Given the description of an element on the screen output the (x, y) to click on. 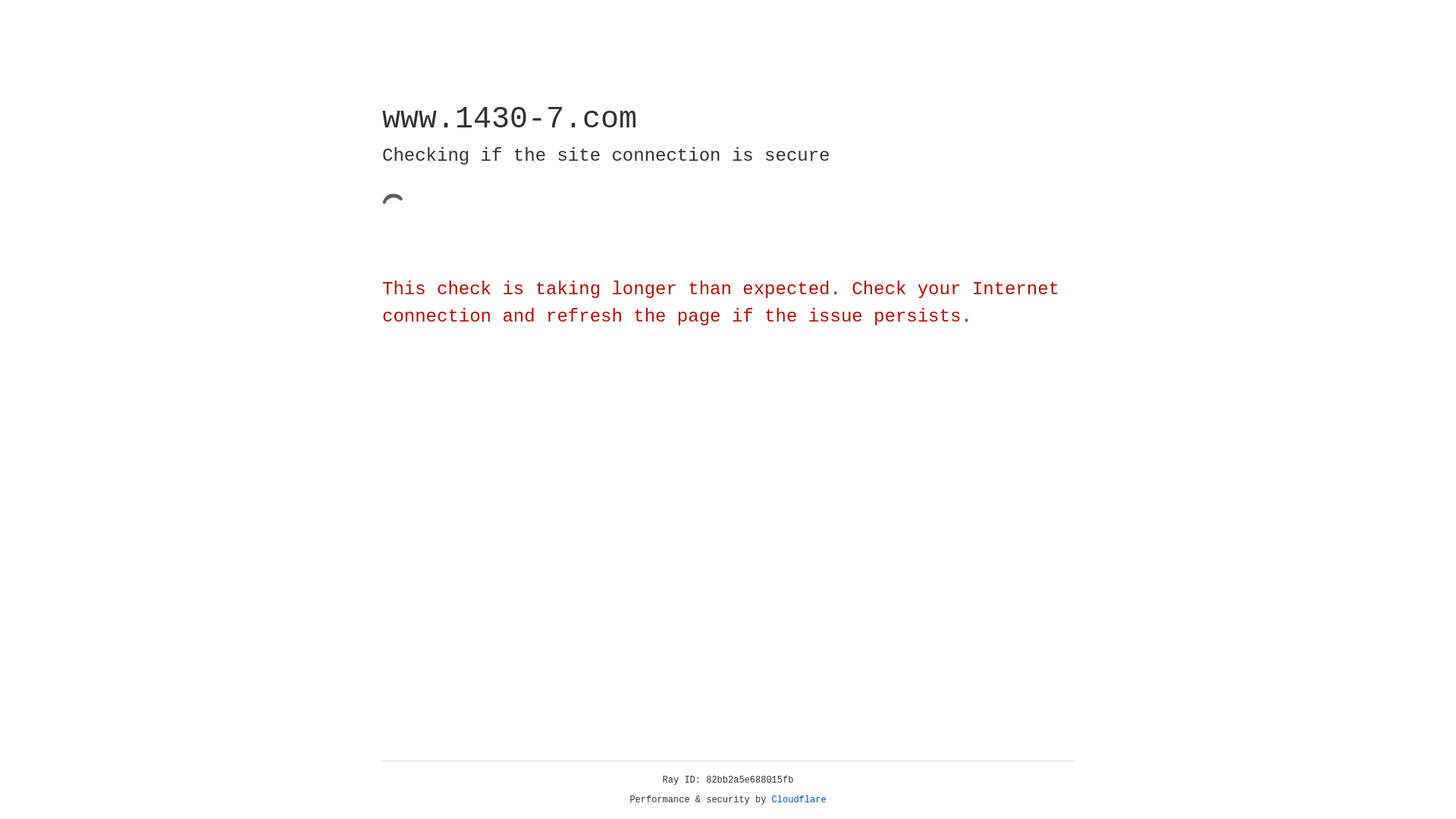
Cloudflare Element type: text (798, 799)
